Given the description of an element on the screen output the (x, y) to click on. 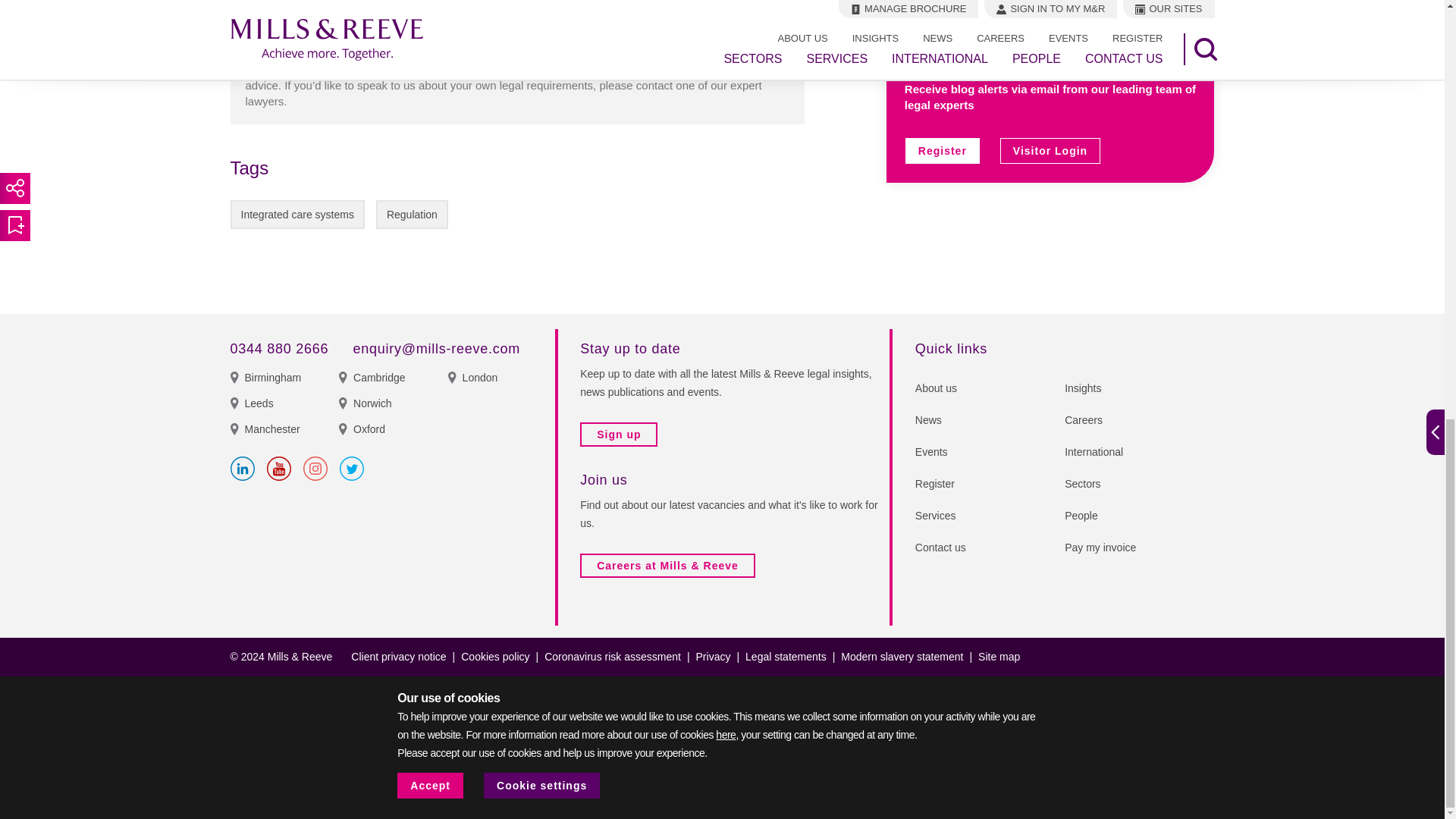
LinkedIn (242, 468)
Instagram (314, 468)
YouTube (278, 468)
Twitter (351, 468)
